Given the description of an element on the screen output the (x, y) to click on. 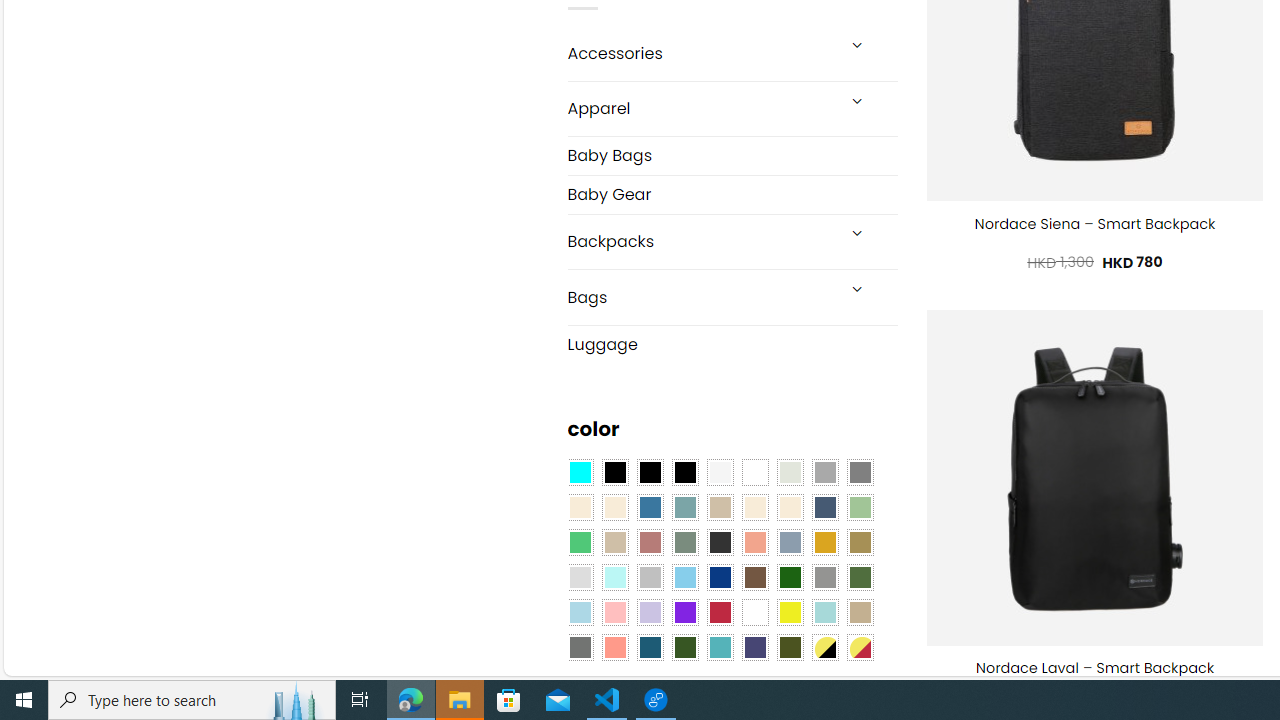
Rose (650, 542)
Pink (614, 612)
Aqua (824, 612)
Ash Gray (789, 473)
Sage (684, 542)
Caramel (755, 508)
Baby Bags (732, 155)
Dull Nickle (579, 647)
All Gray (859, 473)
Silver (650, 578)
Green (859, 578)
Dark Green (789, 578)
